Given the description of an element on the screen output the (x, y) to click on. 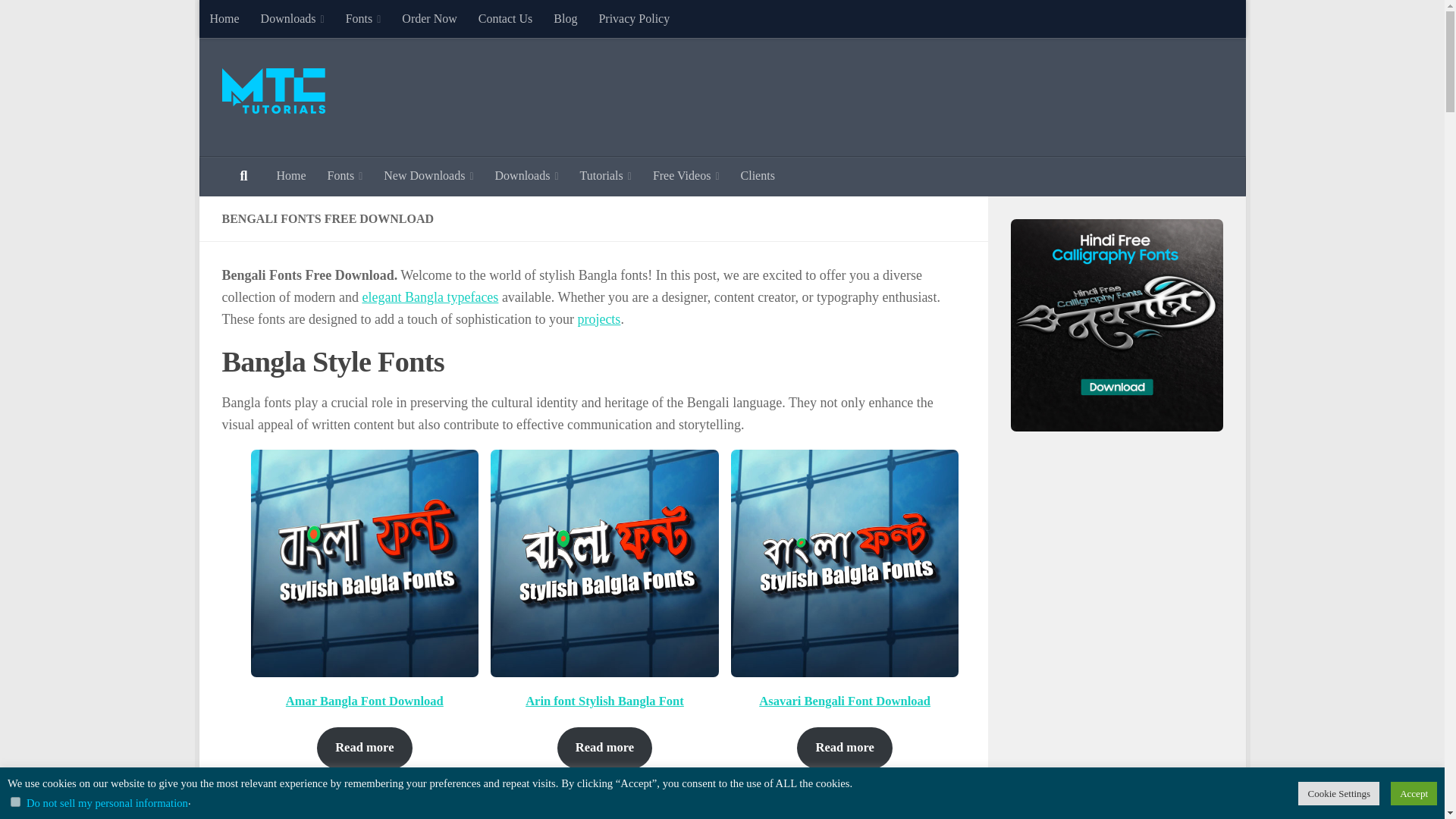
Advertisement (946, 94)
on (15, 801)
Skip to content (258, 20)
